Given the description of an element on the screen output the (x, y) to click on. 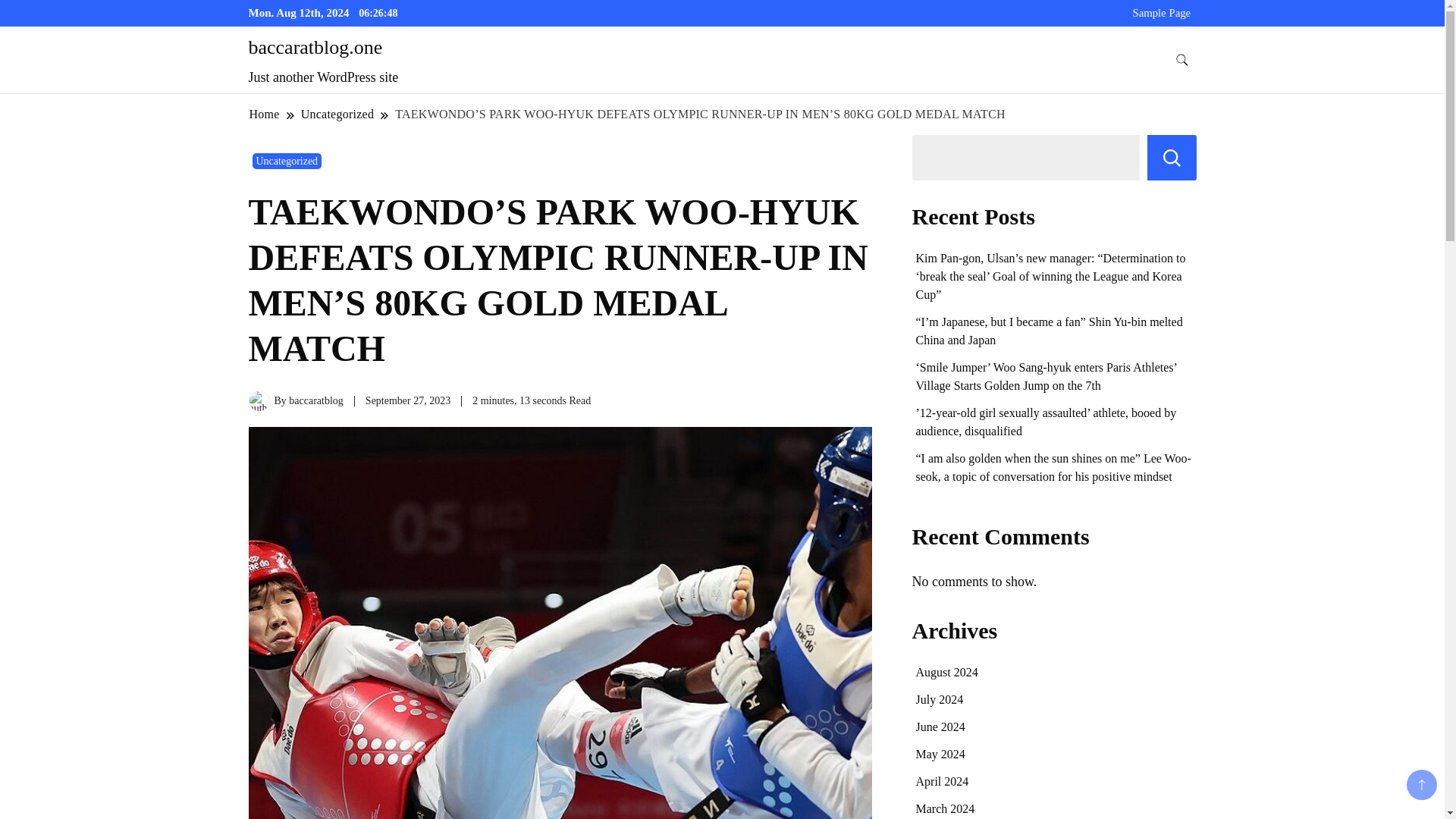
Home (264, 114)
June 2024 (940, 726)
baccaratblog (315, 400)
Uncategorized (286, 160)
July 2024 (939, 698)
Search (1171, 157)
Sample Page (1161, 12)
May 2024 (940, 753)
Uncategorized (337, 114)
baccaratblog.one (315, 47)
